Given the description of an element on the screen output the (x, y) to click on. 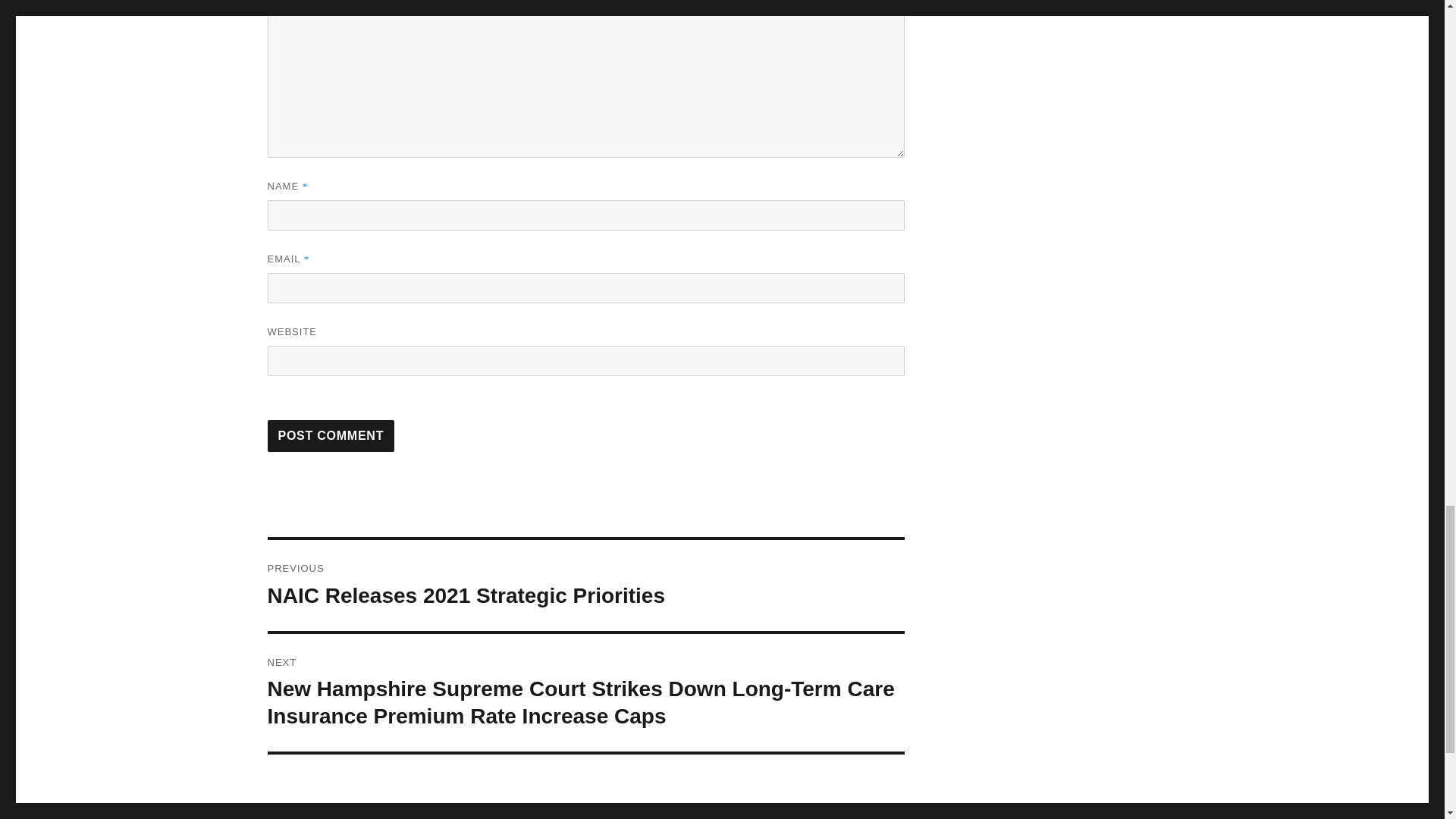
Post Comment (330, 436)
Post Comment (330, 436)
